Given the description of an element on the screen output the (x, y) to click on. 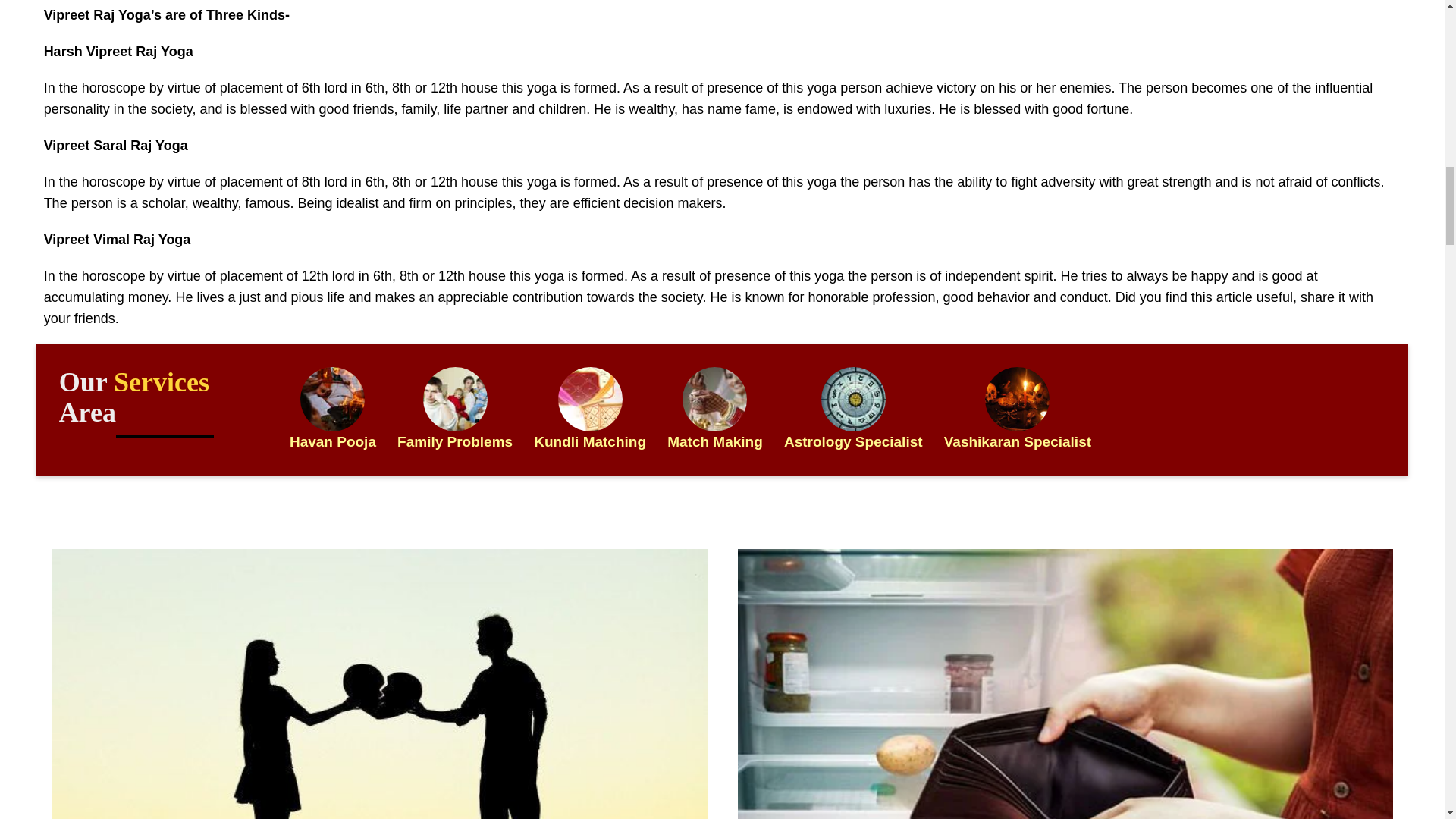
Astrology Specialist (1017, 398)
Kundli Matching (590, 398)
Havan Pooja (332, 398)
Family Problems (455, 398)
Match Making (714, 398)
Astrology Specialist (853, 398)
